Given the description of an element on the screen output the (x, y) to click on. 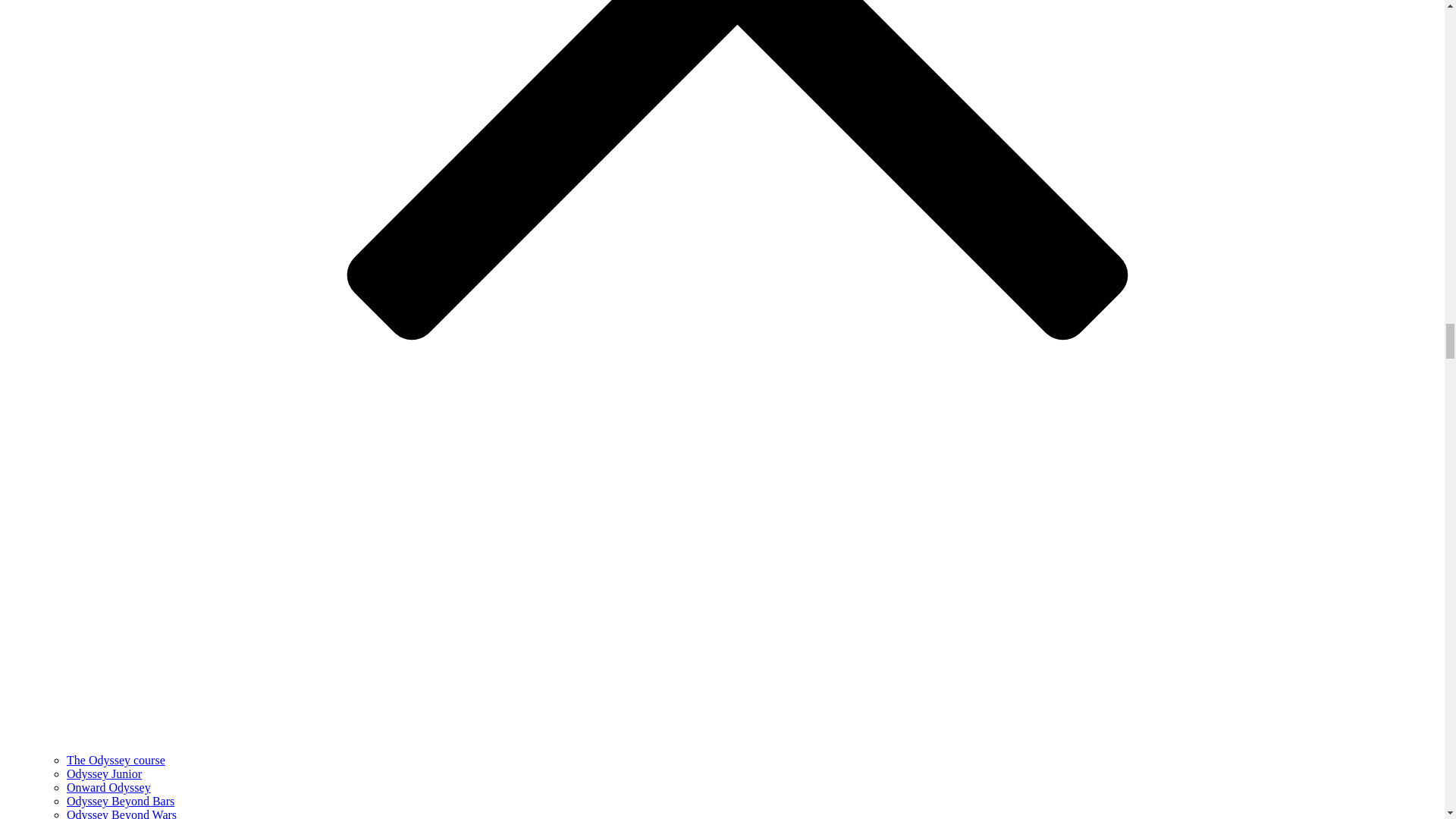
Onward Odyssey (108, 787)
The Odyssey course (115, 759)
Odyssey Beyond Wars (121, 813)
Odyssey Junior (103, 773)
Odyssey Beyond Bars (120, 800)
